Given the description of an element on the screen output the (x, y) to click on. 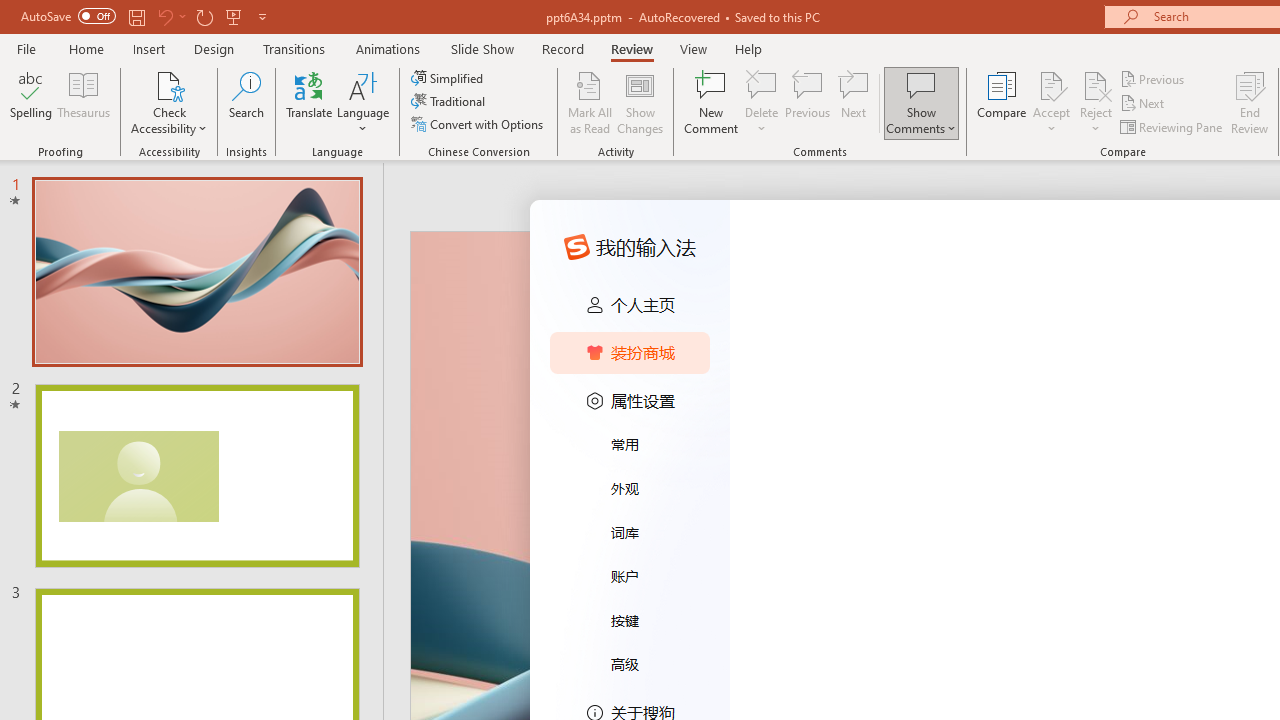
Thesaurus... (83, 102)
Convert with Options... (479, 124)
